Given the description of an element on the screen output the (x, y) to click on. 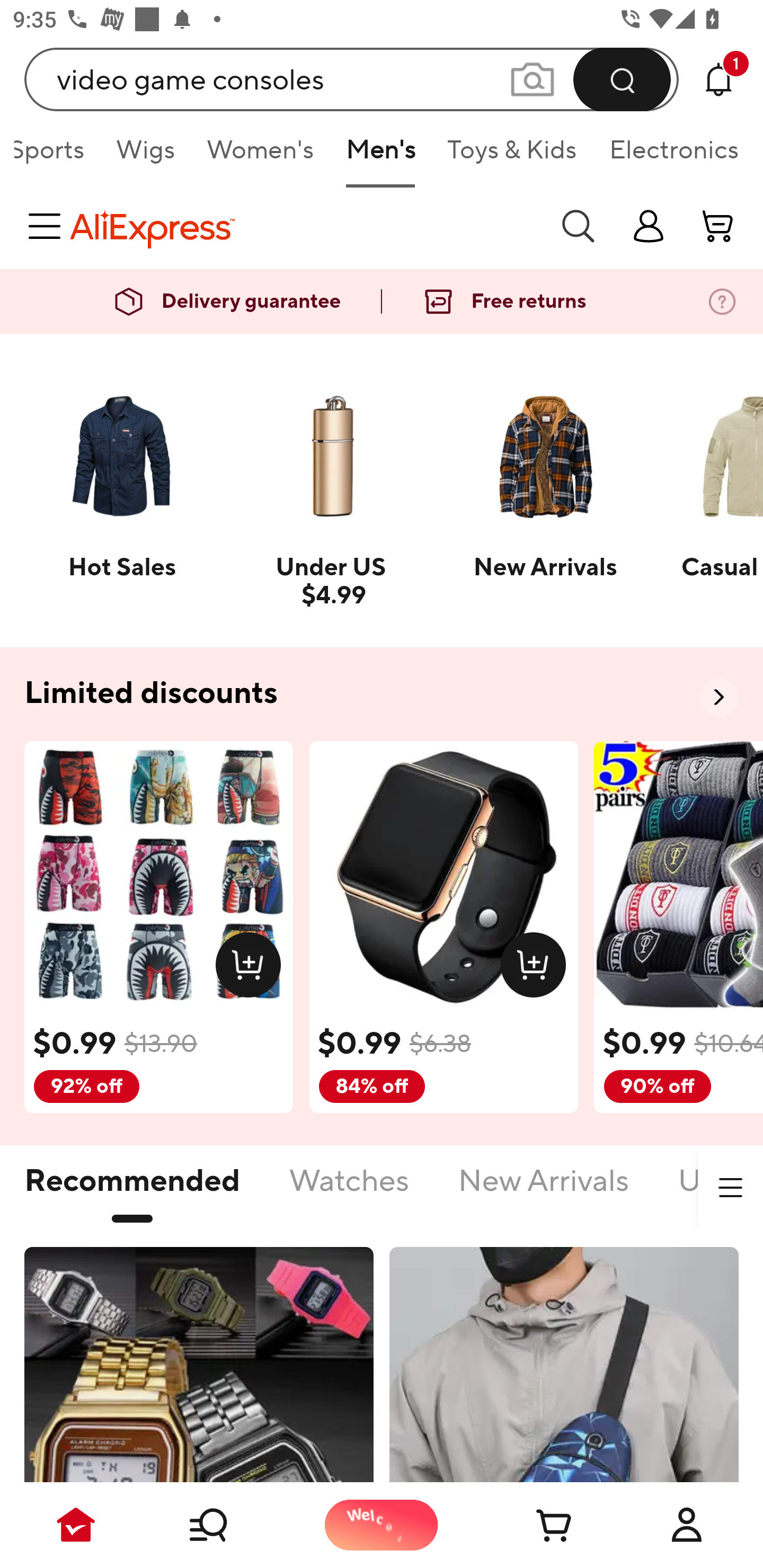
video game consoles (351, 79)
Sports (56, 155)
Wigs (144, 155)
Women's (260, 155)
Toys & Kids (511, 155)
Electronics (669, 155)
aliexpress (305, 225)
category (47, 225)
shop (648, 225)
account (718, 225)
Limited discounts  Limited discounts (381, 694)
128x128.png_ (252, 967)
128x128.png_ (536, 967)
 (730, 1188)
Recommended (132, 1191)
Watches (348, 1191)
New Arrivals (543, 1191)
Shop (228, 1524)
Cart (533, 1524)
Account (686, 1524)
